Given the description of an element on the screen output the (x, y) to click on. 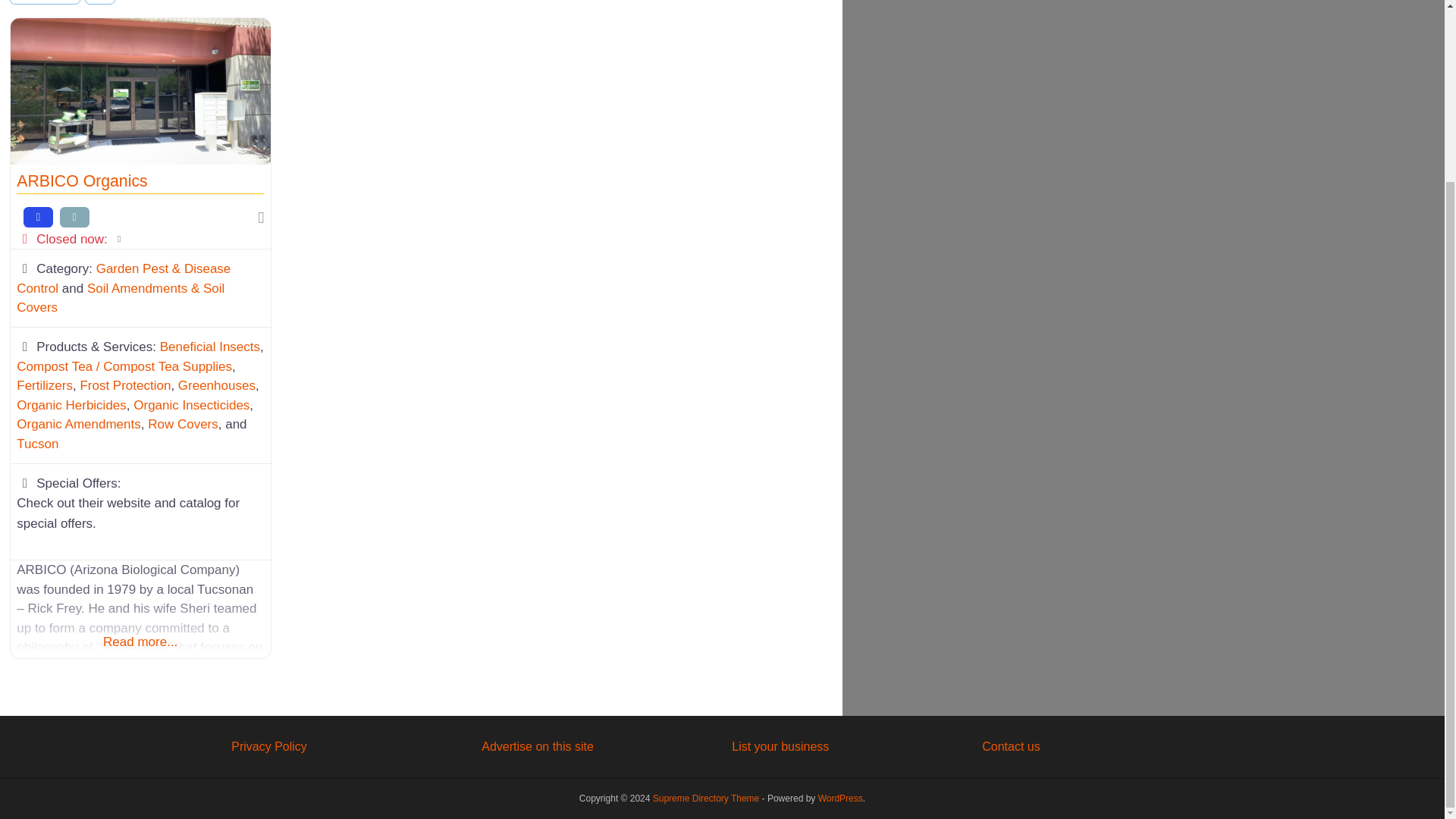
ARBICO Organics (81, 180)
View: ARBICO Organics (81, 180)
Closed now: (139, 239)
Read more... (139, 622)
Privacy Policy (269, 745)
Organic Herbicides (71, 405)
Organic Amendments (77, 423)
Sort By (45, 2)
WordPress (840, 798)
Tucson (37, 443)
Greenhouses (216, 385)
Row Covers (183, 423)
Advertise on this site (537, 745)
Organic Insecticides (190, 405)
Frost Protection (125, 385)
